Given the description of an element on the screen output the (x, y) to click on. 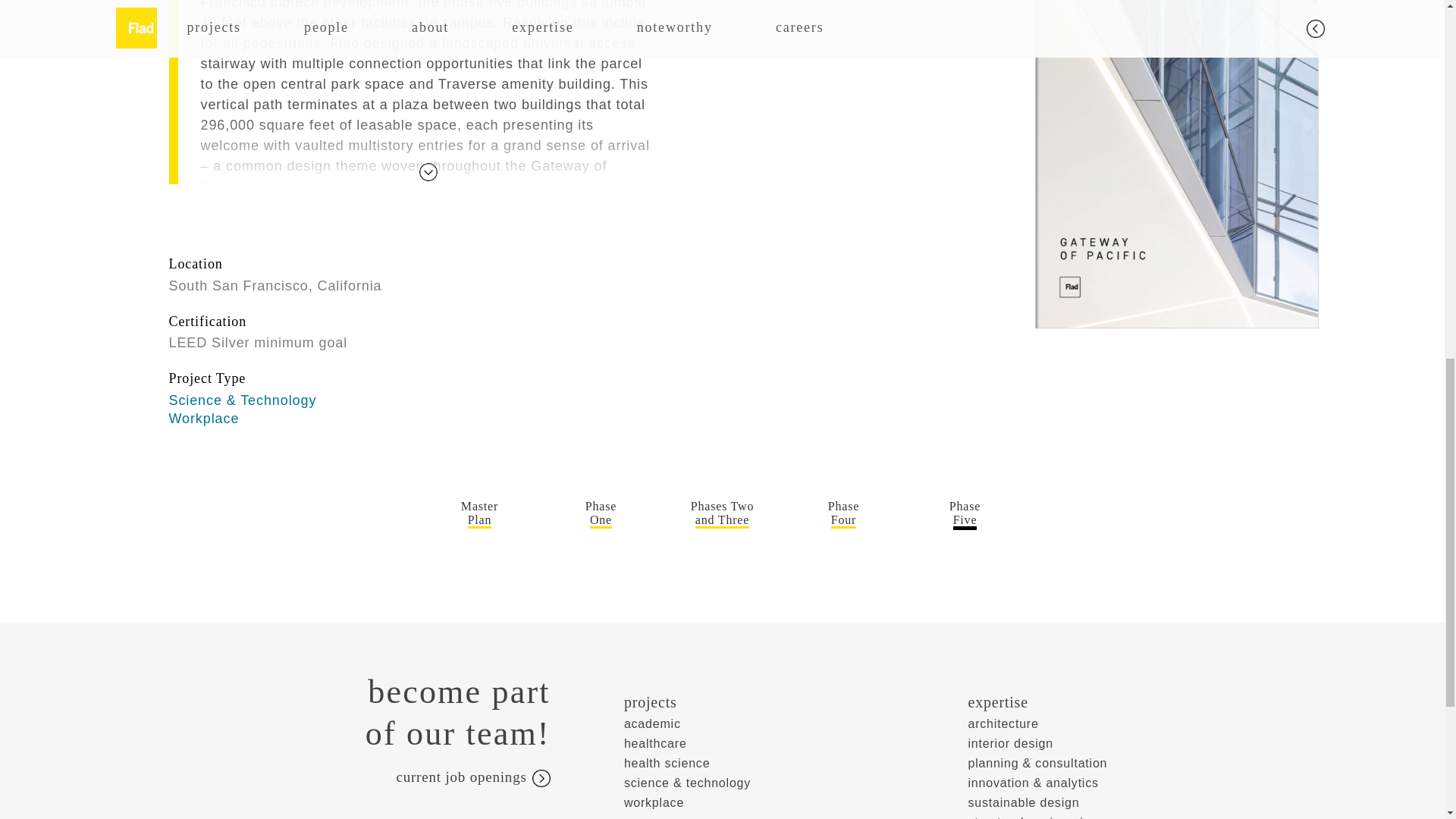
current job openings (600, 513)
Workplace (347, 778)
